Given the description of an element on the screen output the (x, y) to click on. 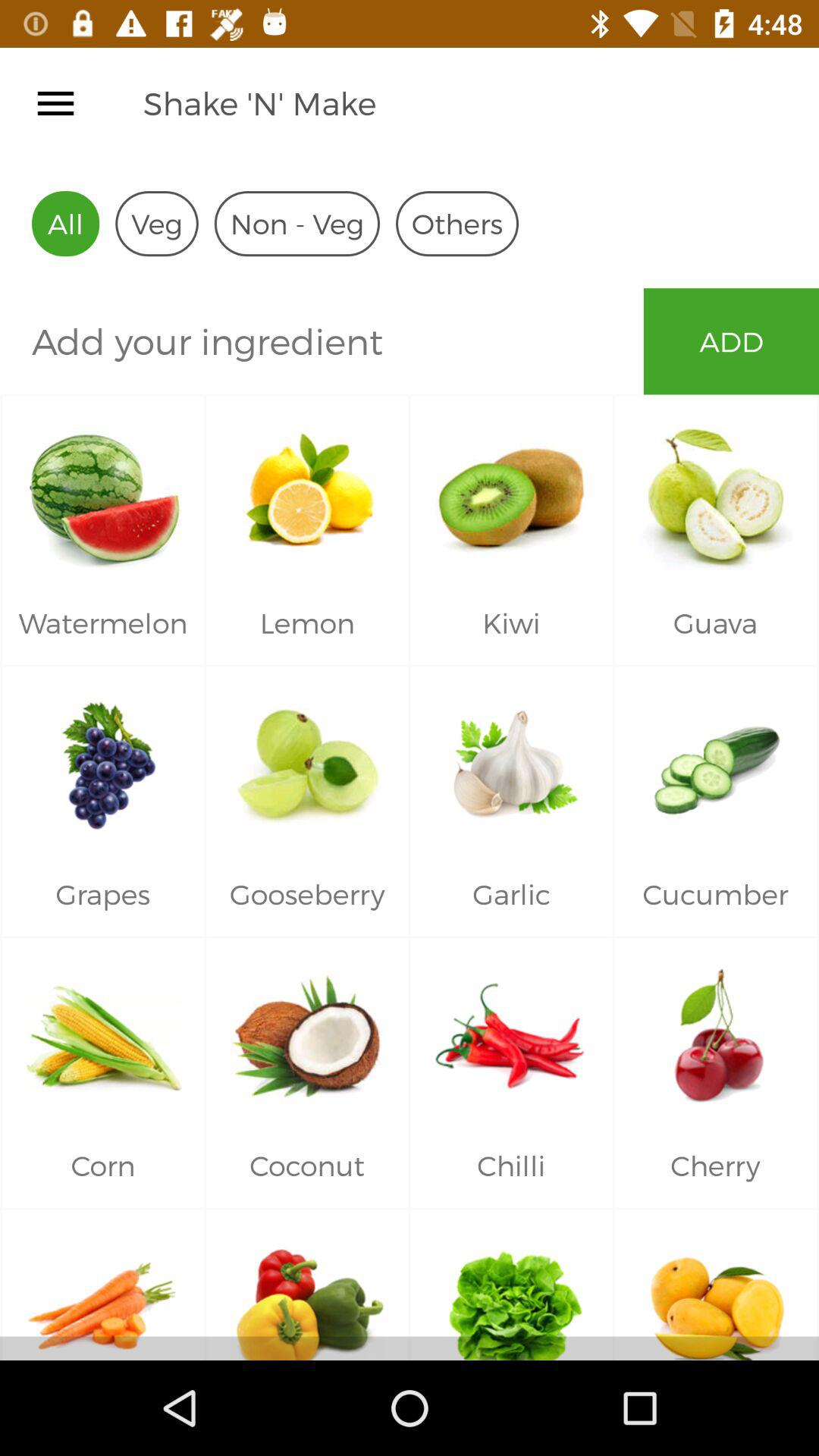
flip to the others (456, 223)
